Given the description of an element on the screen output the (x, y) to click on. 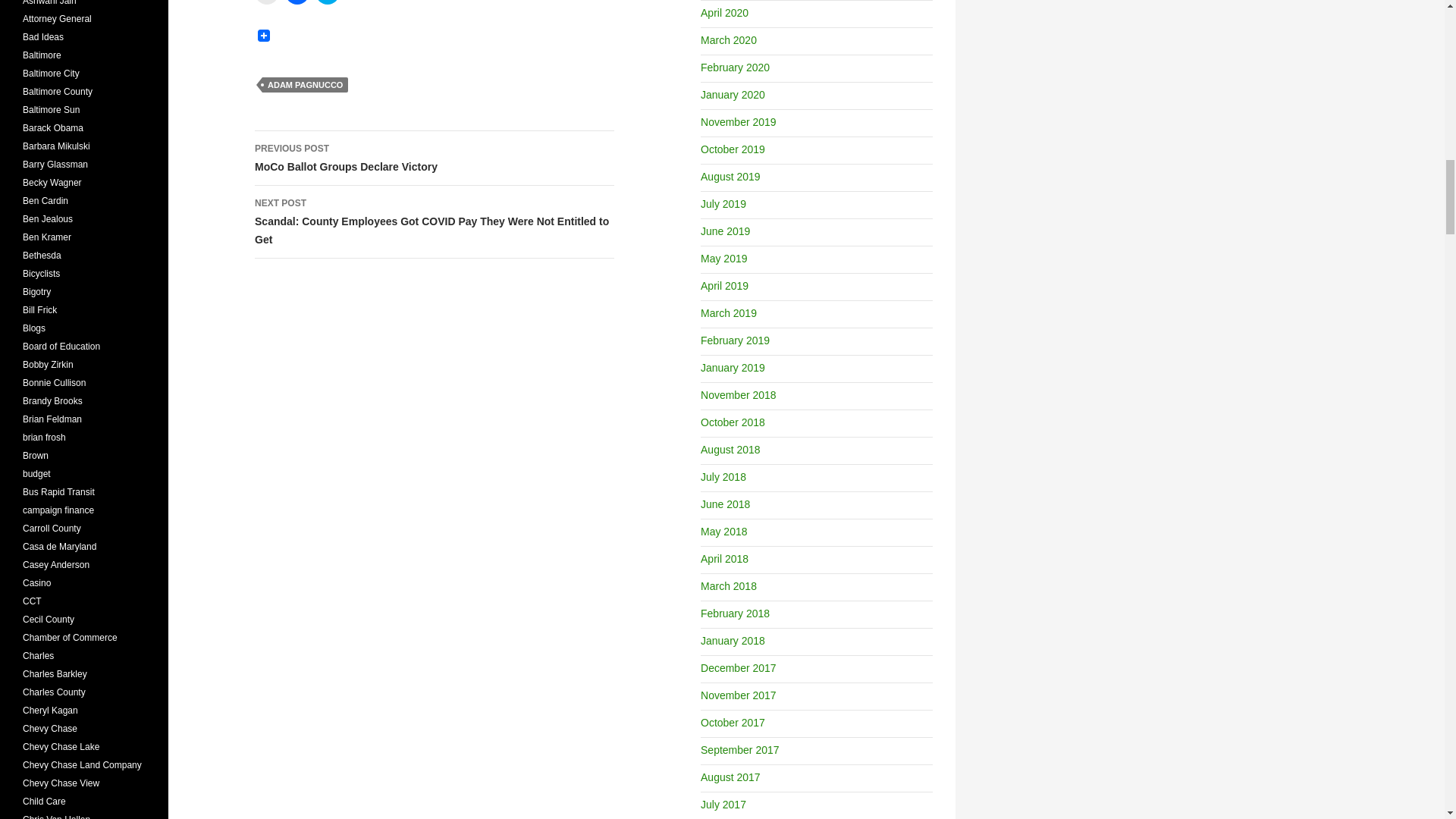
ADAM PAGNUCCO (304, 84)
Click to share on Twitter (327, 2)
Click to email a link to a friend (266, 2)
Click to share on Facebook (296, 2)
